Given the description of an element on the screen output the (x, y) to click on. 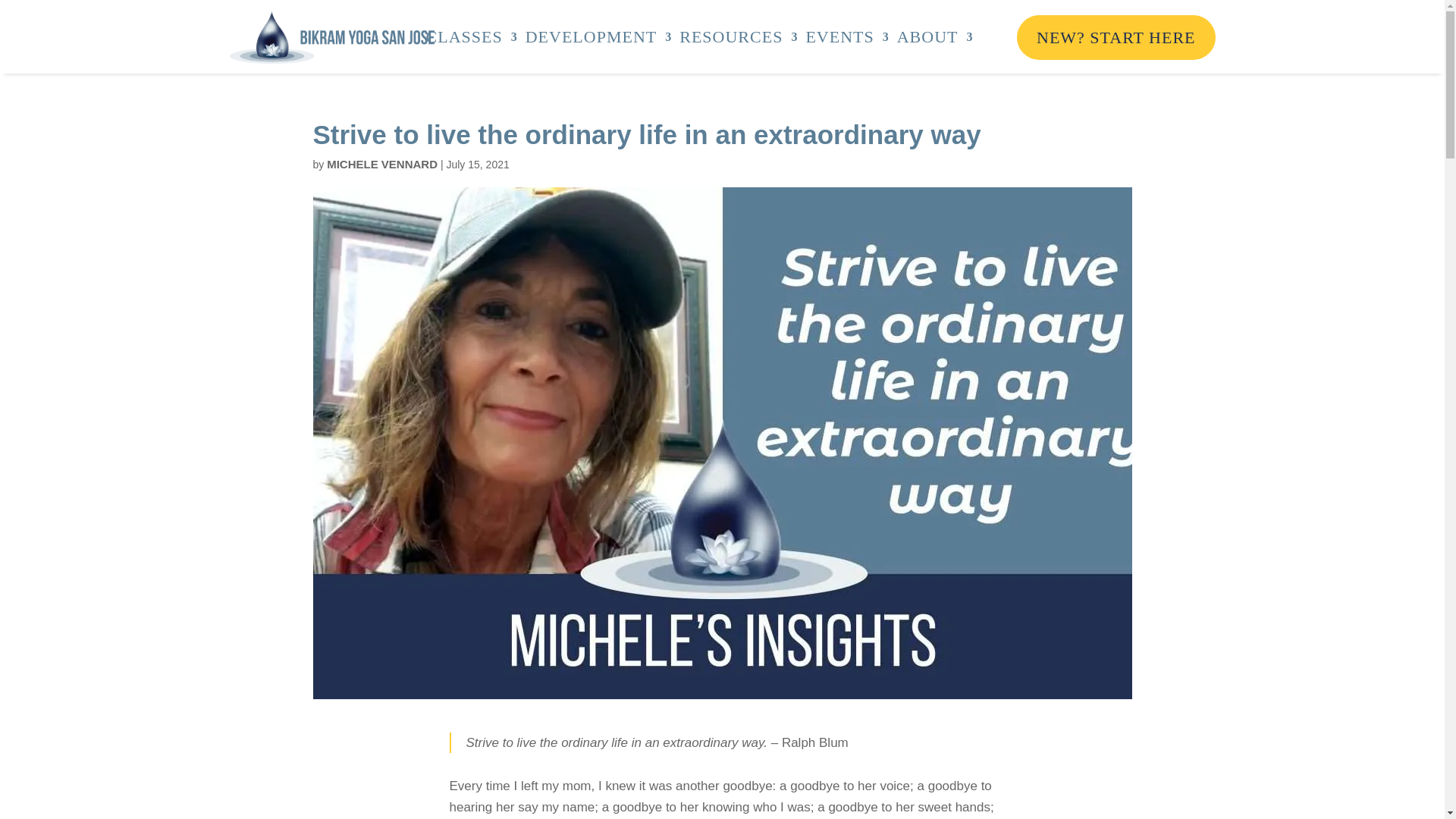
DEVELOPMENT (598, 36)
Posts by Michele Vennard (382, 164)
EVENTS (846, 36)
RESOURCES (738, 36)
ABOUT (935, 36)
CLASSES (472, 36)
